Given the description of an element on the screen output the (x, y) to click on. 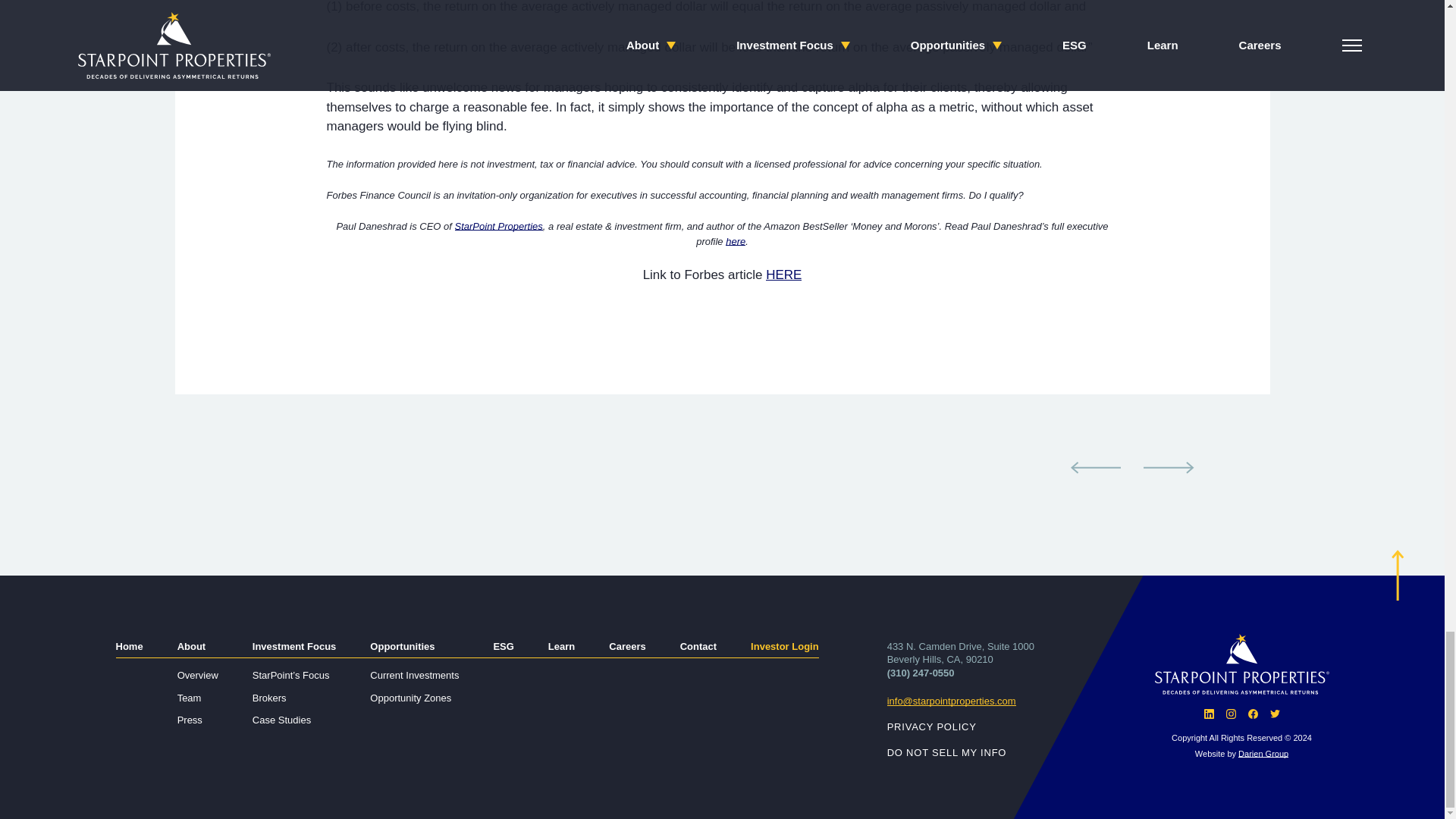
Home (128, 645)
StarPoint Properties (498, 225)
About (191, 645)
HERE (783, 273)
Opportunities (401, 645)
Case Studies (281, 719)
Investment Focus (293, 645)
Team (189, 697)
Steve Hallstrom Show Podcast, Episode 159 (1167, 467)
Brokers (268, 697)
Overview (197, 674)
here (735, 241)
Current Investments (413, 674)
Press (189, 719)
